Given the description of an element on the screen output the (x, y) to click on. 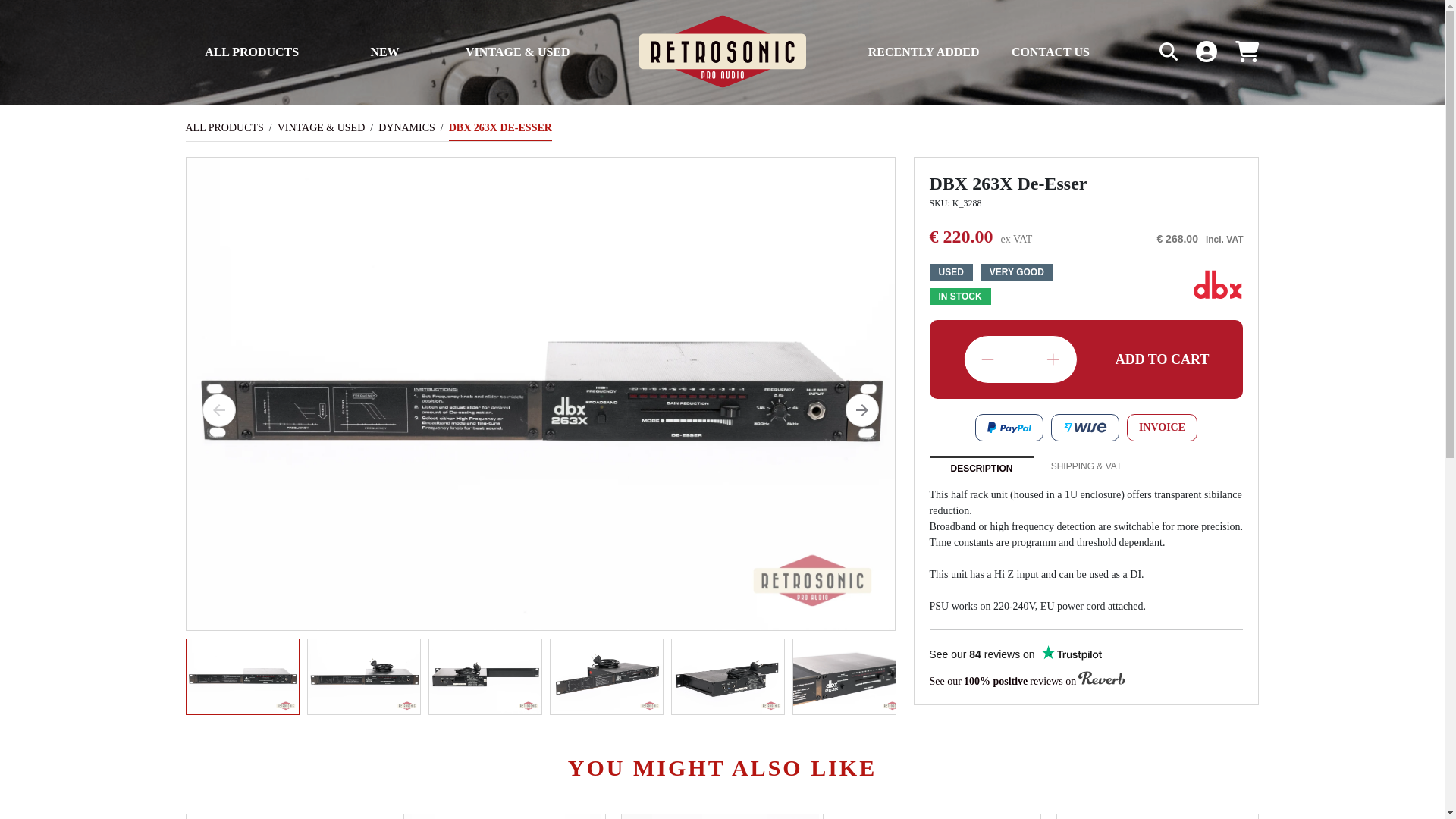
RECENTLY ADDED (923, 51)
Increase quantity (1052, 359)
NEW (383, 51)
Decrease quantity (987, 359)
ALL PRODUCTS (223, 127)
DYNAMICS (406, 127)
Decrease quantity (987, 359)
ALL PRODUCTS (251, 51)
CONTACT US (1050, 51)
Customer reviews powered by Trustpilot (1014, 654)
